Given the description of an element on the screen output the (x, y) to click on. 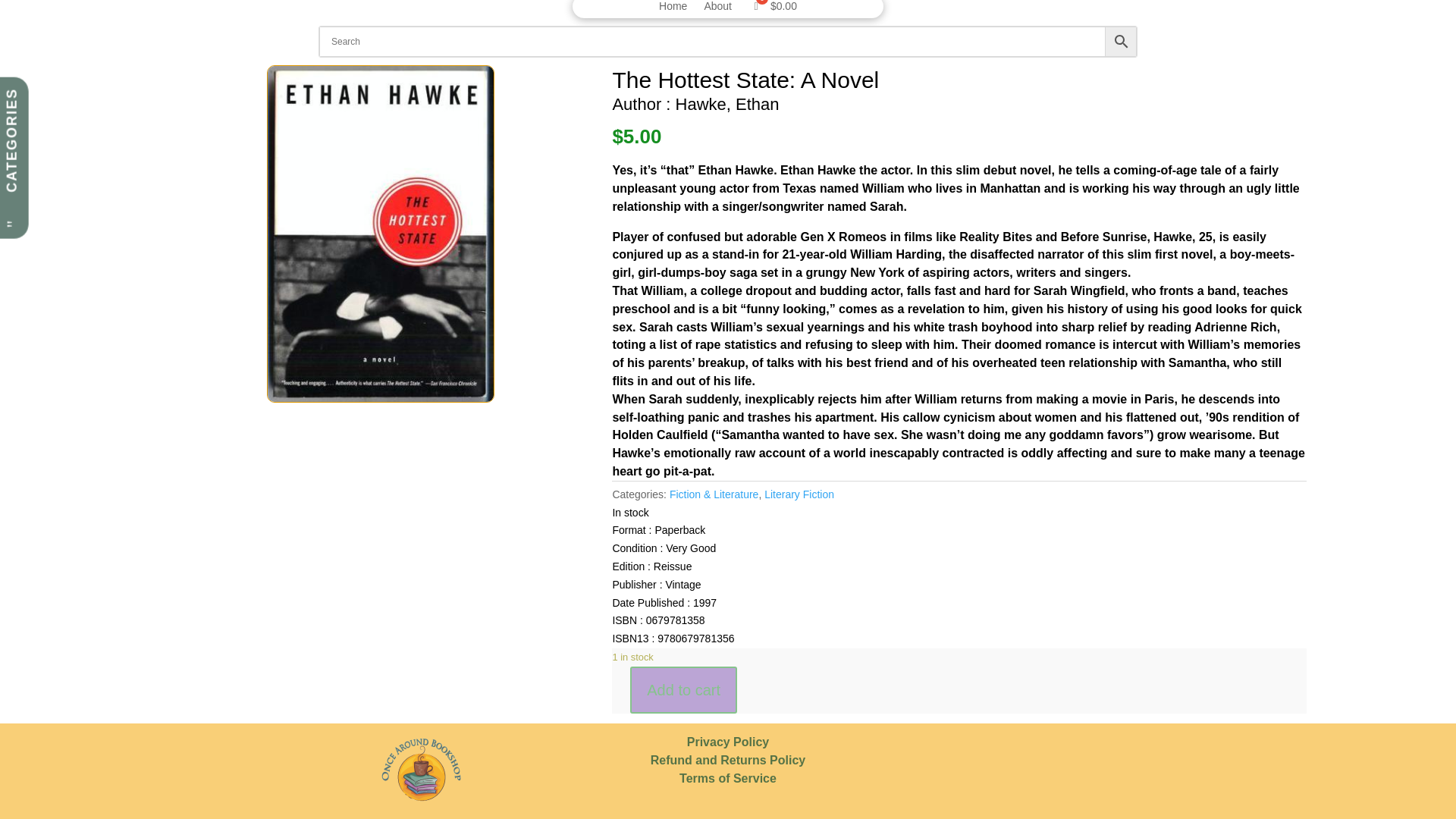
OnceAroundBookShop-Logo (420, 771)
About (717, 9)
Home (673, 9)
